Given the description of an element on the screen output the (x, y) to click on. 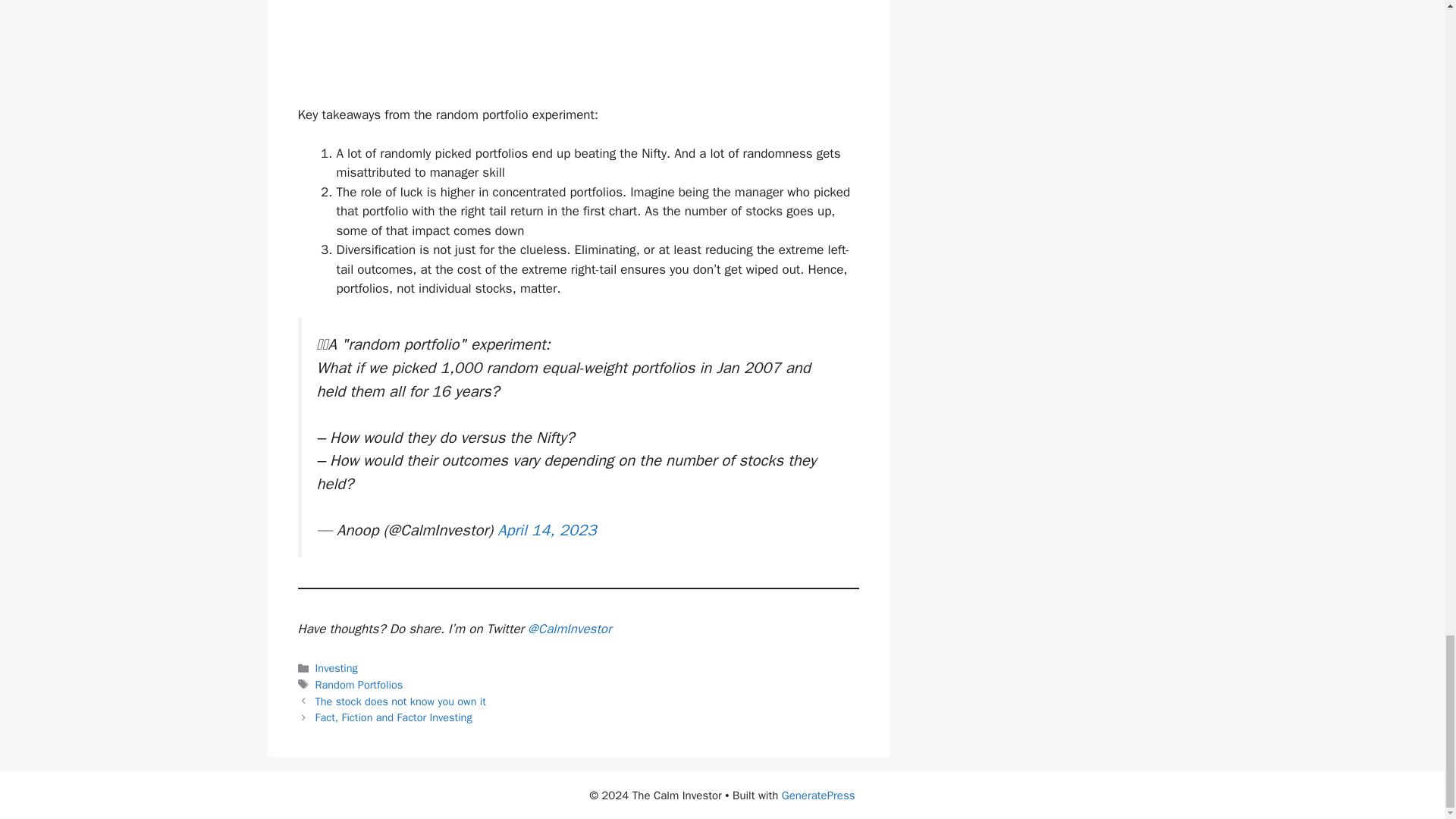
Investing (336, 667)
GeneratePress (818, 795)
Random Portfolios (359, 684)
The stock does not know you own it (400, 701)
April 14, 2023 (546, 529)
Fact, Fiction and Factor Investing (393, 716)
